Given the description of an element on the screen output the (x, y) to click on. 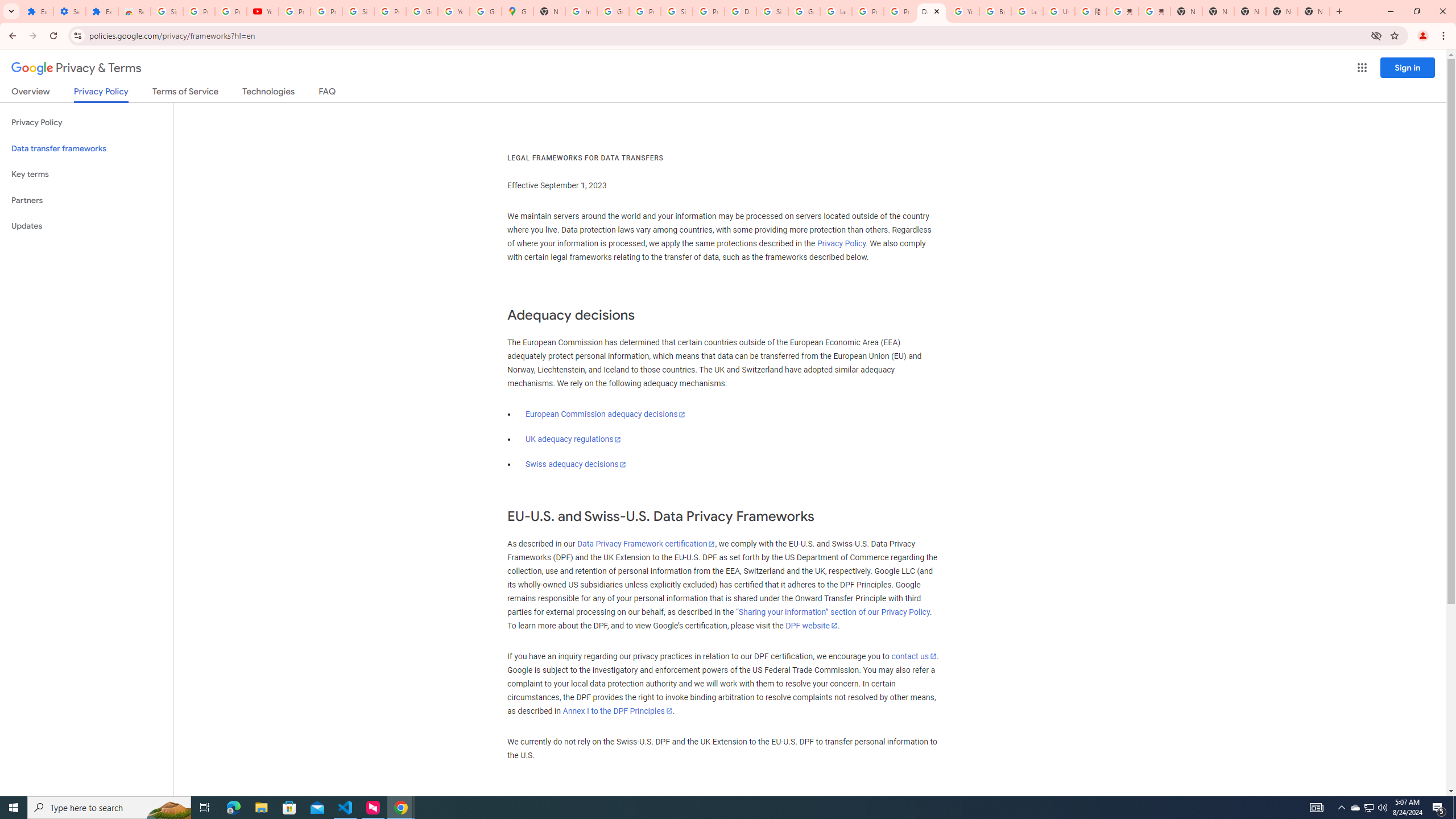
Extensions (101, 11)
contact us (913, 656)
Swiss adequacy decisions (575, 464)
Sign in - Google Accounts (772, 11)
Delete specific Google services or your Google Account (740, 11)
